Given the description of an element on the screen output the (x, y) to click on. 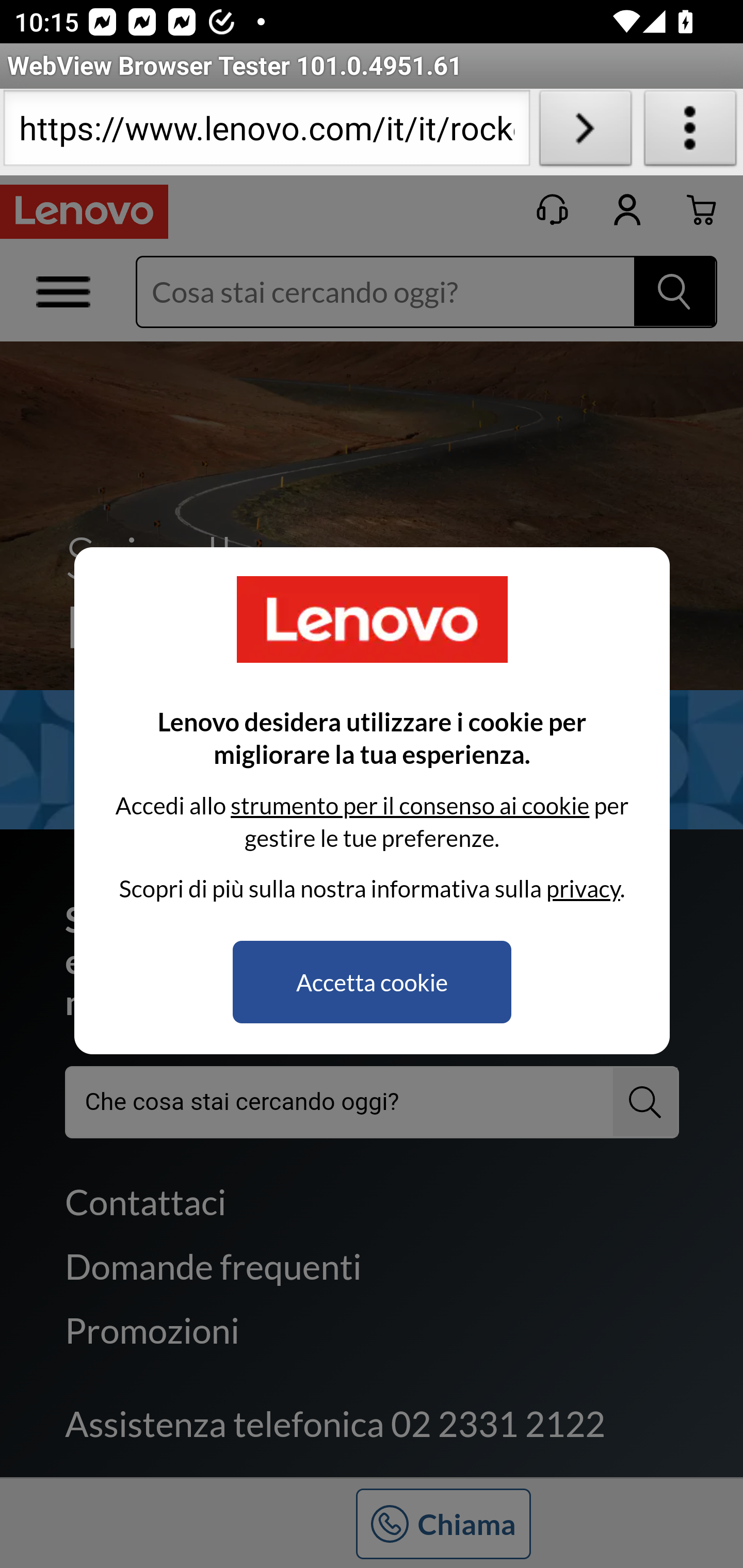
https://www.lenovo.com/it/it/rockets/ (266, 132)
Load URL (585, 132)
About WebView (690, 132)
strumento per il consenso ai cookie (408, 805)
privacy (583, 888)
Accetta cookie (371, 981)
